Given the description of an element on the screen output the (x, y) to click on. 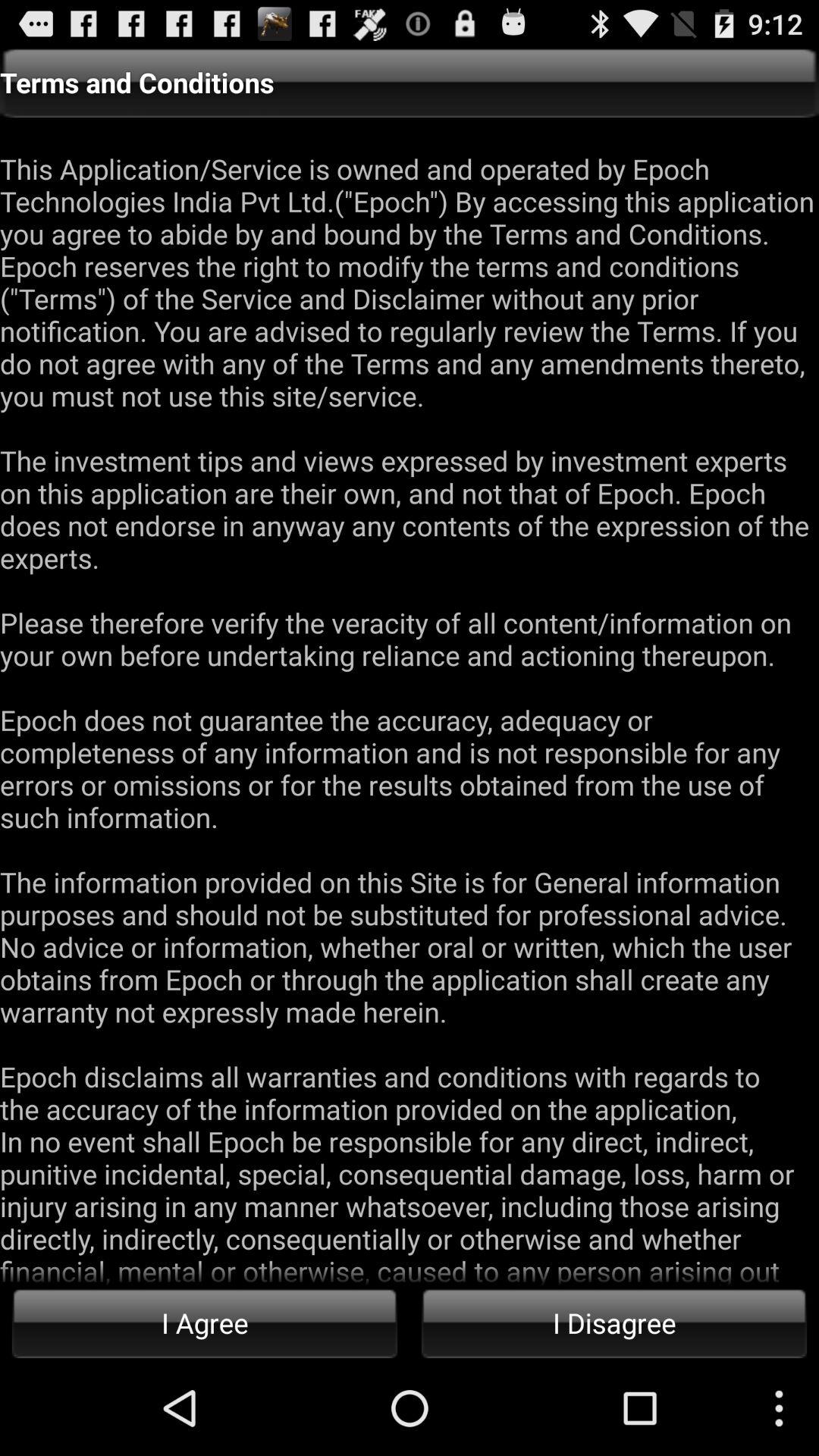
open button next to the  i disagree (204, 1323)
